Given the description of an element on the screen output the (x, y) to click on. 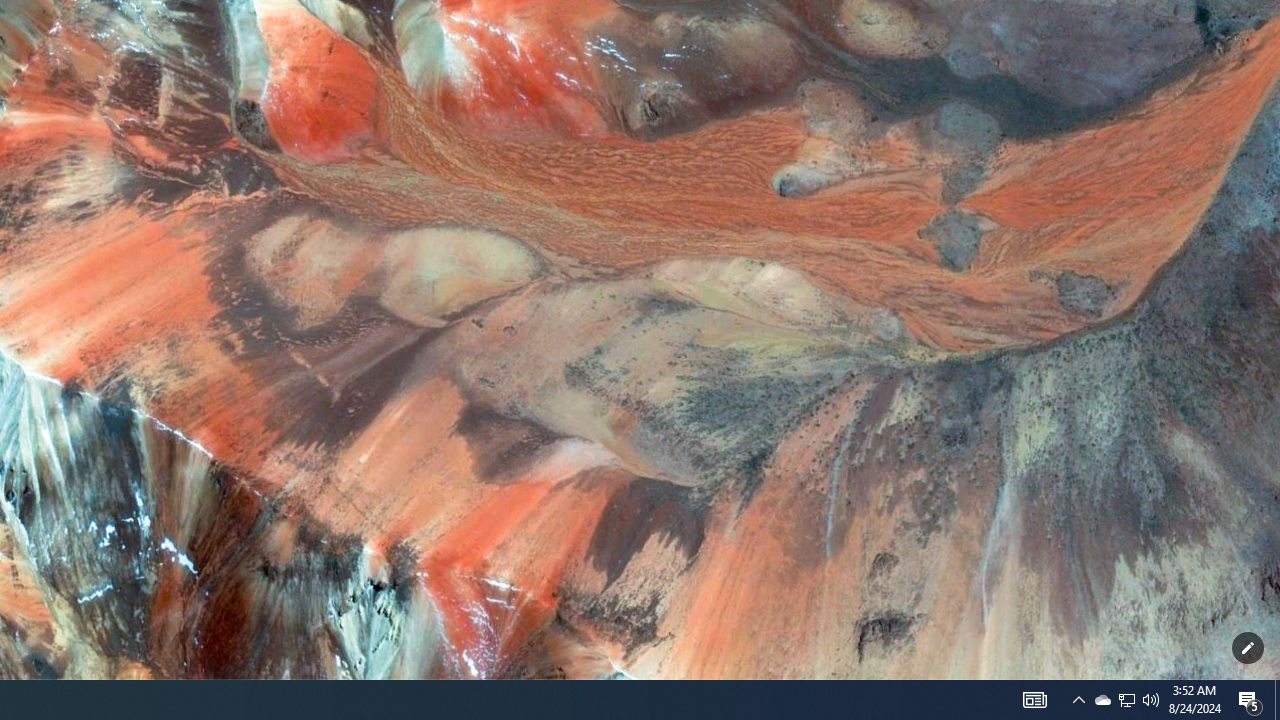
Show desktop (1277, 699)
Notification Chevron (1126, 699)
User Promoted Notification Area (1078, 699)
AutomationID: 4105 (1126, 699)
Q2790: 100% (1034, 699)
Customize this page (1151, 699)
Action Center, 5 new notifications (1247, 647)
